Given the description of an element on the screen output the (x, y) to click on. 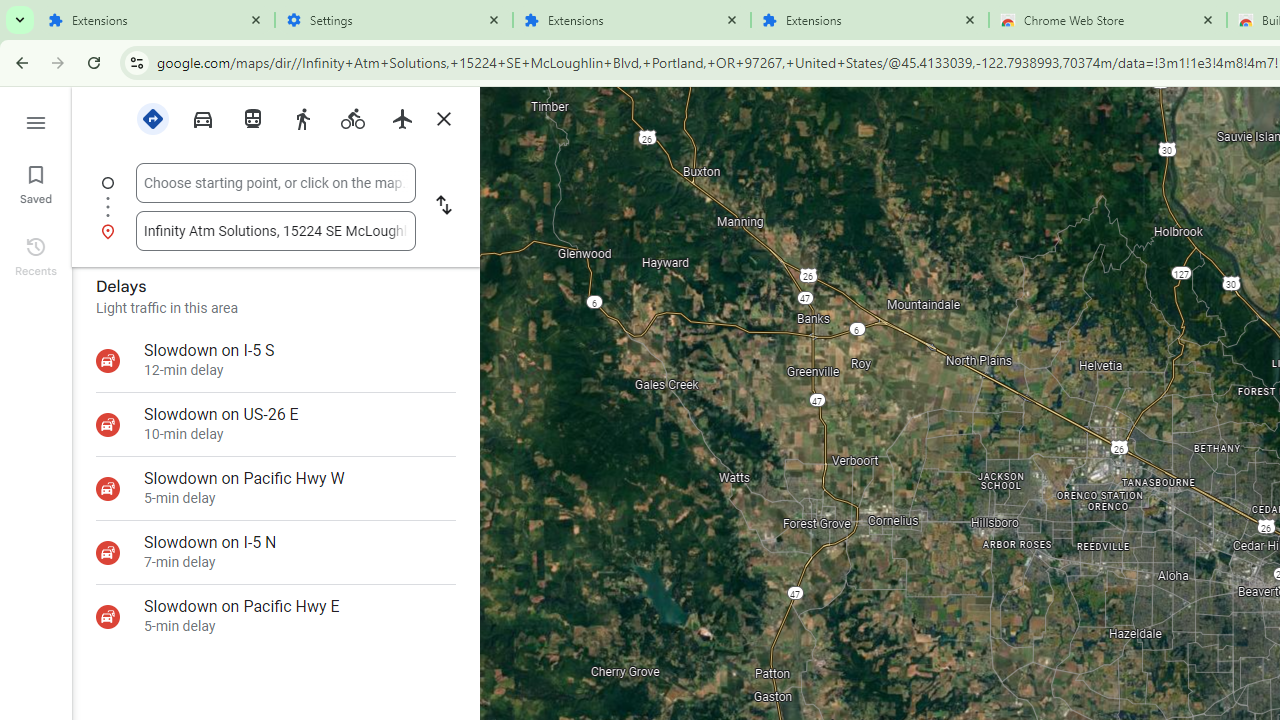
Cycling (352, 119)
Settings (394, 20)
Walking (302, 119)
Extensions (632, 20)
Reverse starting point and destination (444, 206)
Best travel modes (152, 117)
Choose starting point, or click on the map... (275, 183)
AutomationID: sb_ifc50 (275, 182)
AutomationID: sb_ifc51 (275, 230)
Cycling (352, 117)
Menu (35, 120)
Flights (402, 119)
